Given the description of an element on the screen output the (x, y) to click on. 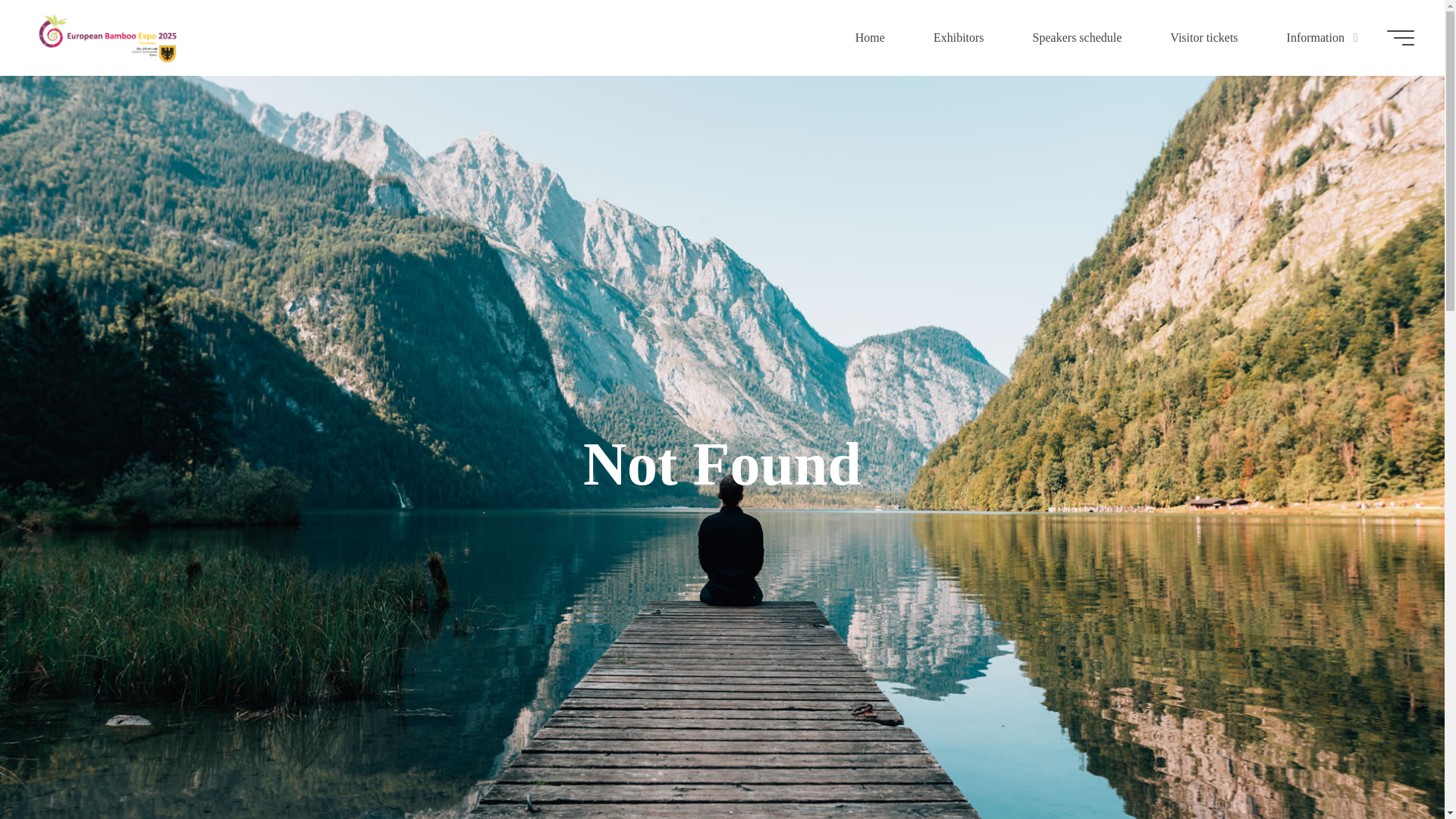
Visitor tickets (1203, 38)
Home (869, 38)
Exhibitors (958, 38)
Read more (721, 800)
Information (1318, 38)
European Bamboo Expo (108, 37)
Speakers schedule (1078, 38)
